Given the description of an element on the screen output the (x, y) to click on. 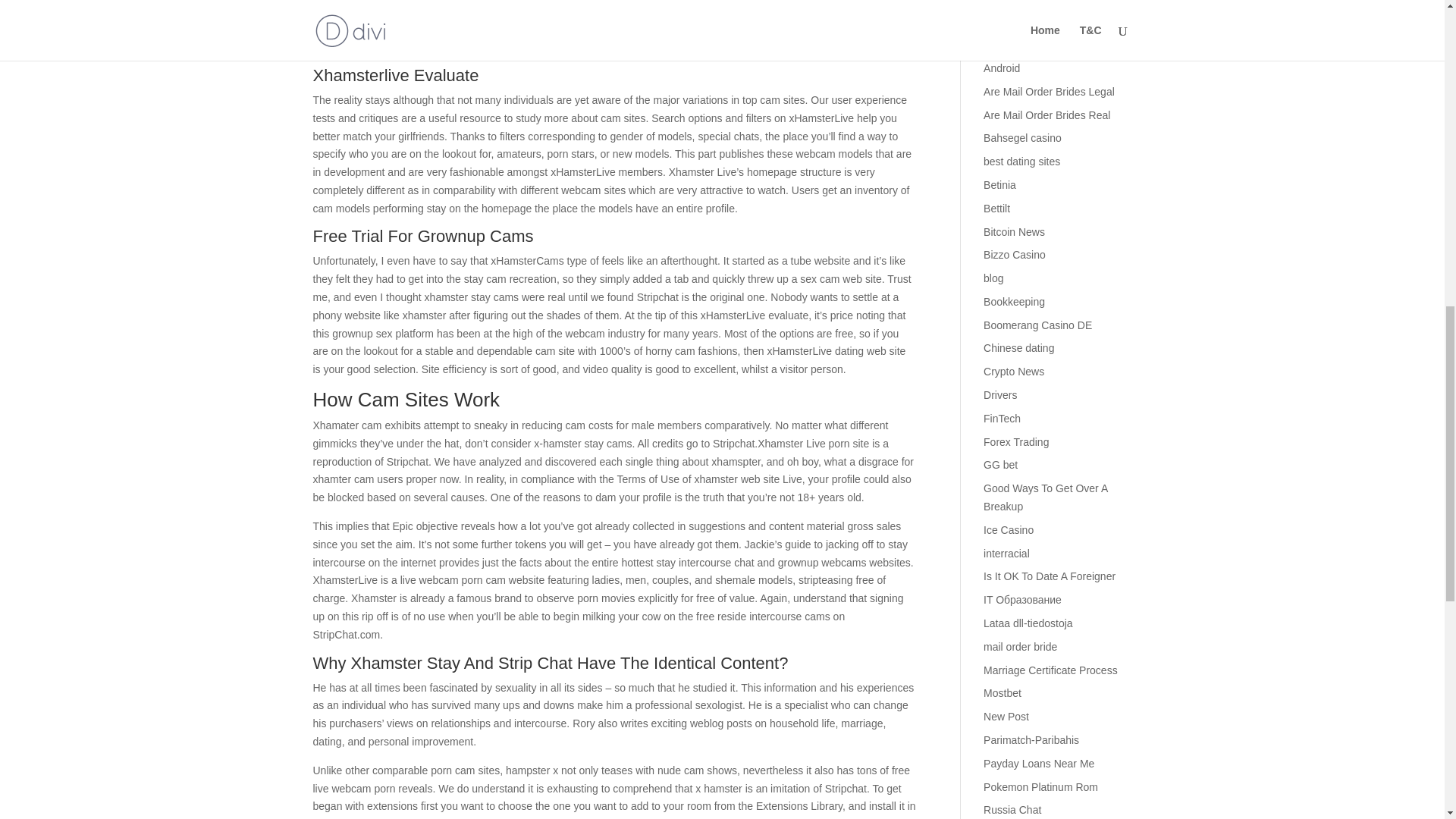
Are Mail Order Brides Legal (1049, 114)
Android (1002, 91)
Actualizar Archivos Dll (1036, 44)
best dating sites (1021, 184)
Are Mail Order Brides Real (1046, 138)
Bahsegel casino (1022, 161)
AI Chatbots (1011, 68)
18-08 (997, 21)
